Given the description of an element on the screen output the (x, y) to click on. 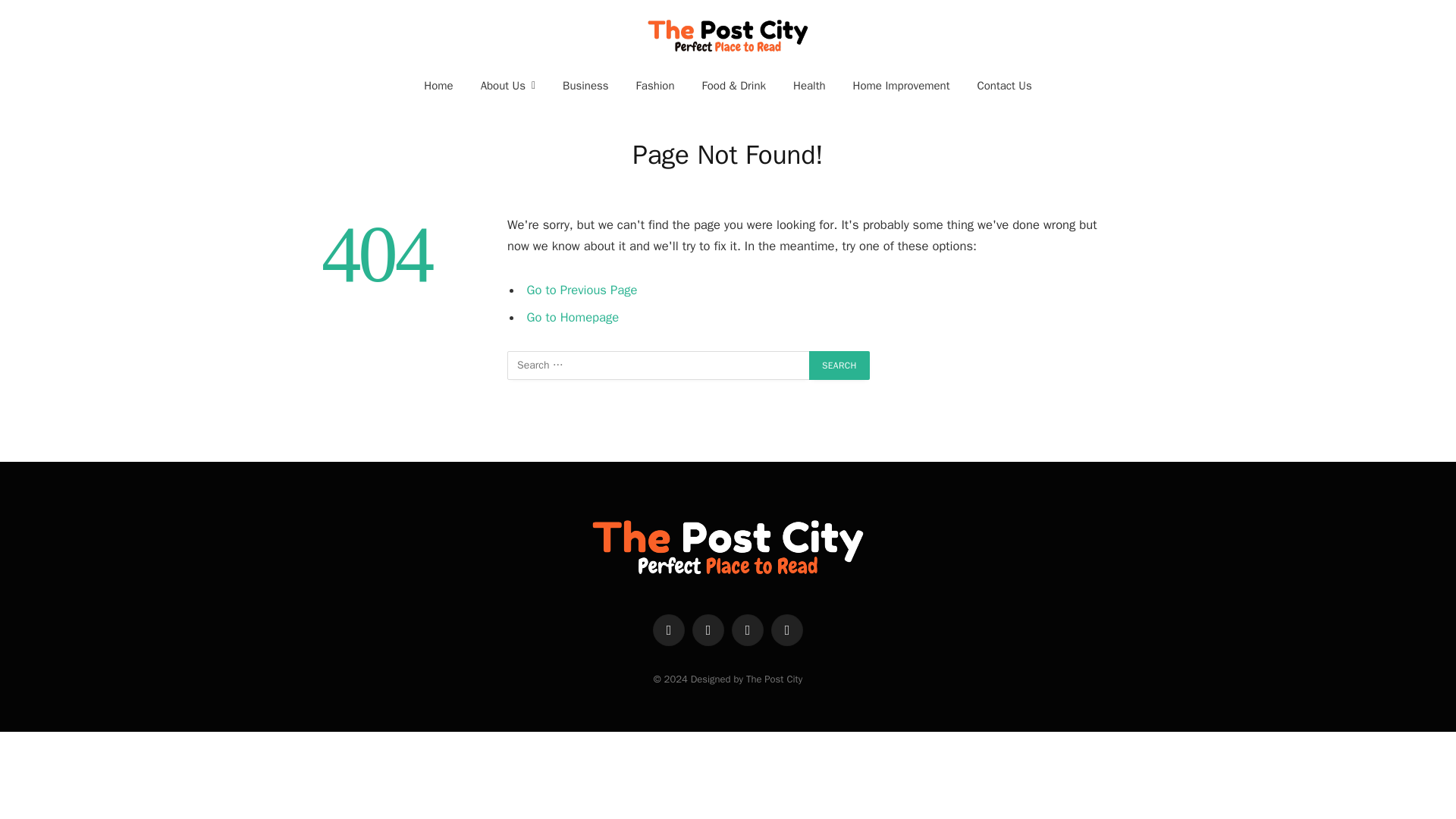
Search (839, 365)
Fashion (655, 85)
Business (585, 85)
Contact Us (1003, 85)
WhatsApp (787, 630)
Go to Previous Page (582, 289)
Health (809, 85)
About Us (507, 85)
Search (839, 365)
Facebook (668, 630)
Pinterest (747, 630)
Home Improvement (901, 85)
Home (437, 85)
Search (839, 365)
